Given the description of an element on the screen output the (x, y) to click on. 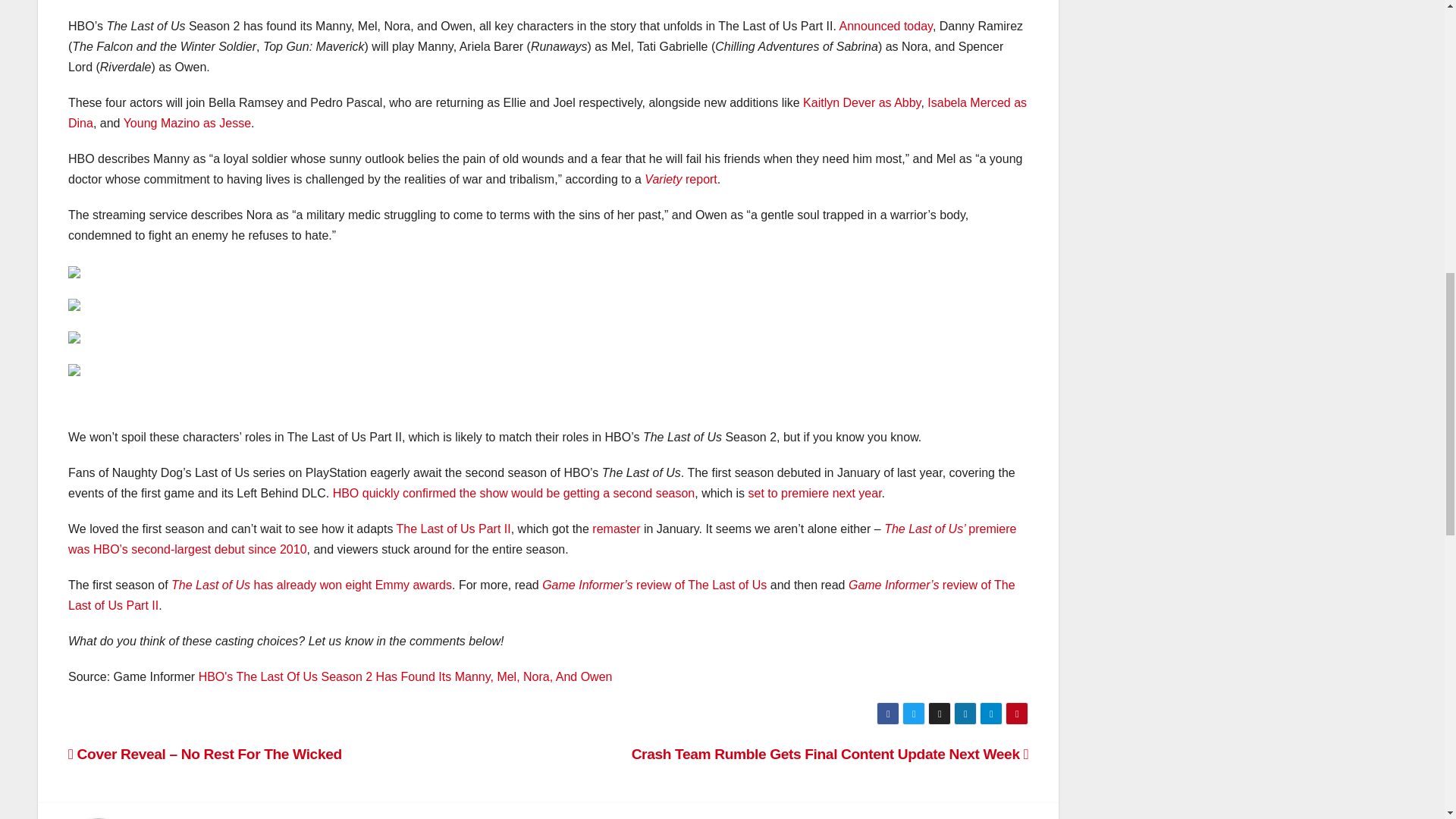
The Last of Us Part II (453, 528)
Variety report (680, 178)
Crash Team Rumble Gets Final Content Update Next Week (830, 754)
Announced today (886, 25)
set to premiere next year (814, 492)
Isabela Merced as Dina (547, 112)
remaster (616, 528)
Young Mazino as Jesse (186, 123)
The Last of Us has already won eight Emmy awards (311, 584)
